Given the description of an element on the screen output the (x, y) to click on. 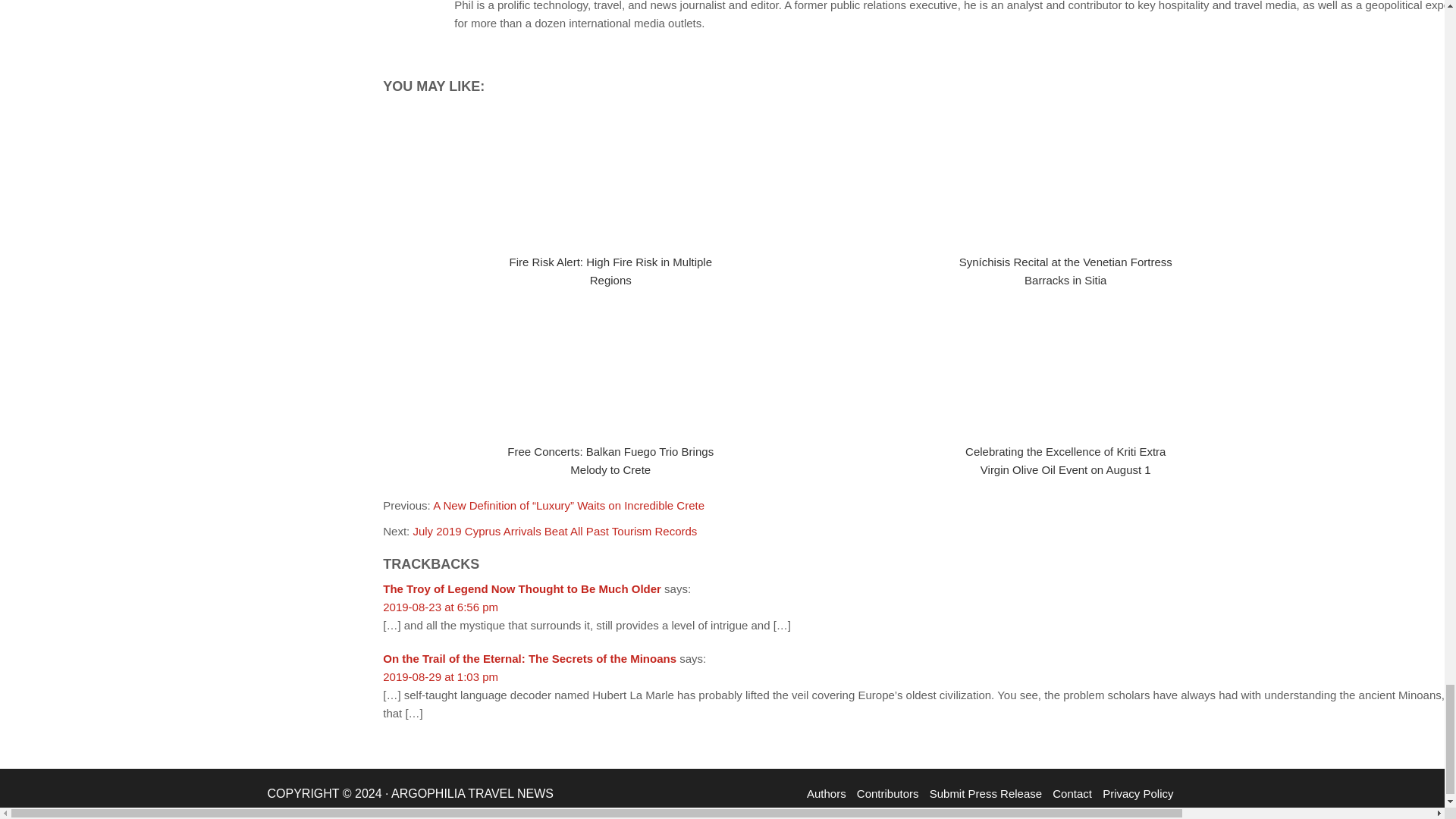
Authors (826, 793)
Permanent Link to  (610, 177)
Permanent Link to  (610, 367)
Permanent Link to  (1065, 367)
Permanent Link to  (1065, 177)
